Given the description of an element on the screen output the (x, y) to click on. 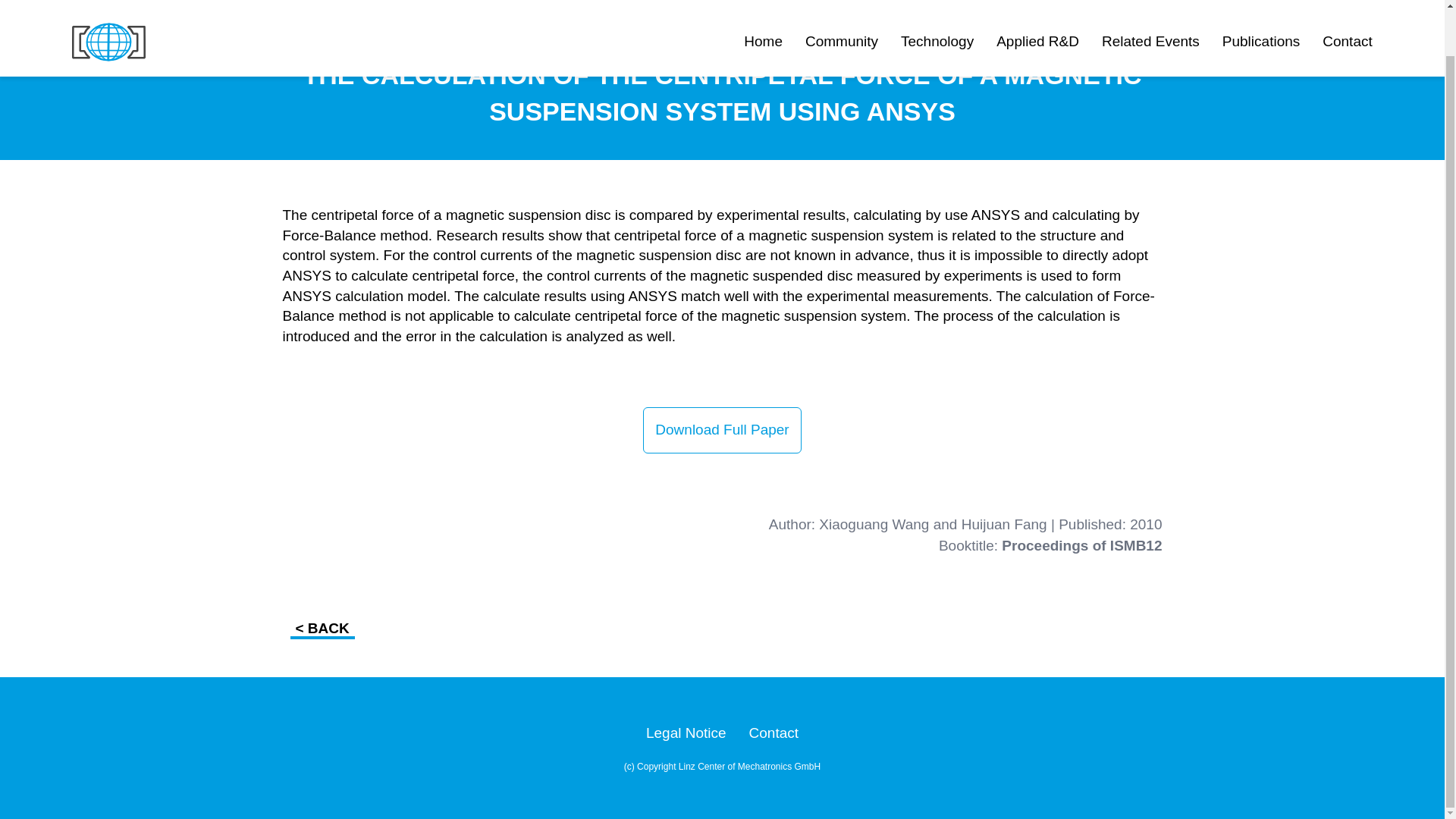
Contact (773, 732)
Home (763, 2)
Legal Notice (686, 732)
Related Events (1150, 2)
Technology (937, 2)
Community (841, 2)
Publications (1261, 2)
Contact (1346, 2)
Download Full Paper (721, 430)
